Given the description of an element on the screen output the (x, y) to click on. 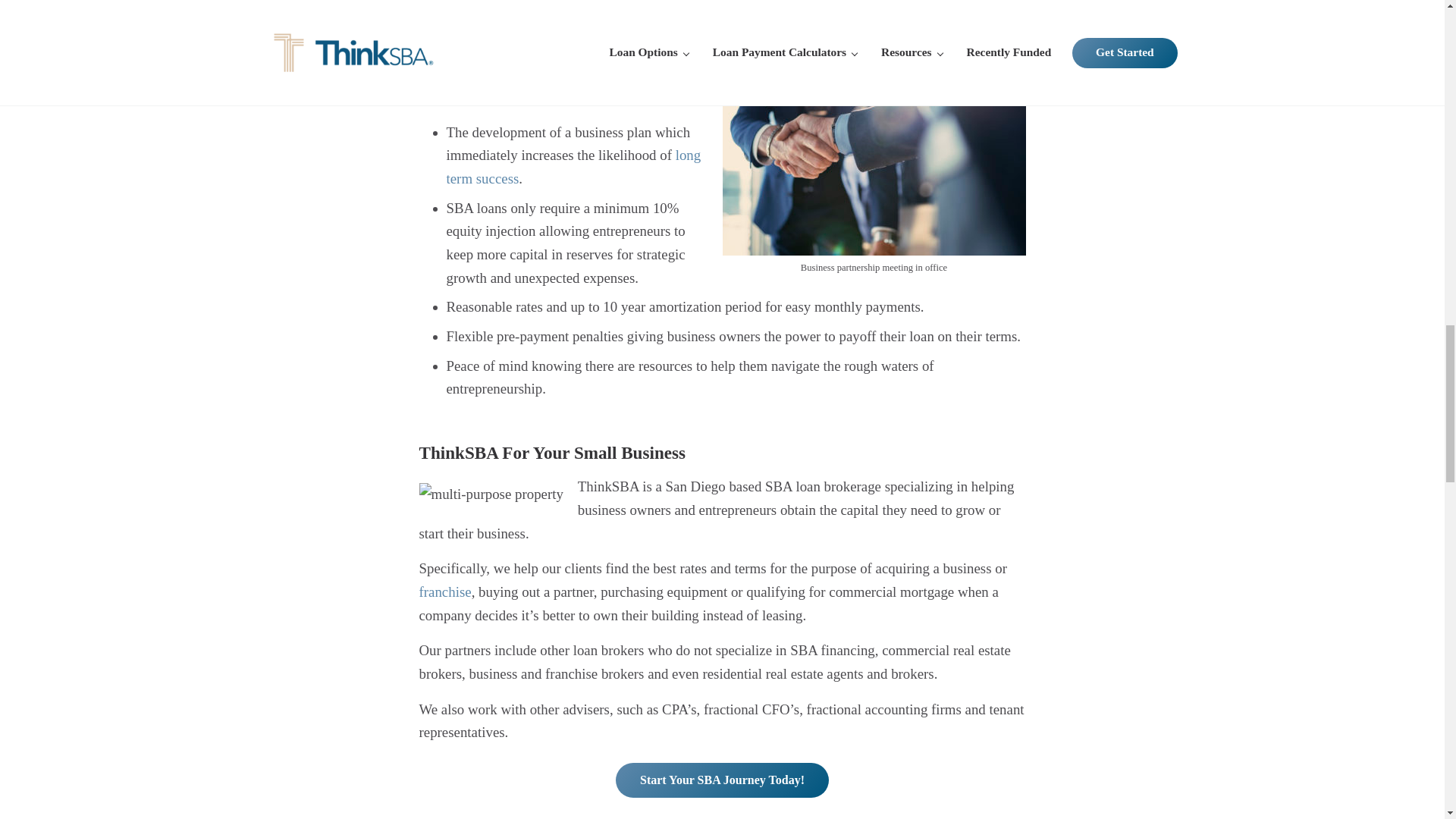
long term success (572, 166)
franchise (444, 591)
Start Your SBA Journey Today! (721, 779)
